Given the description of an element on the screen output the (x, y) to click on. 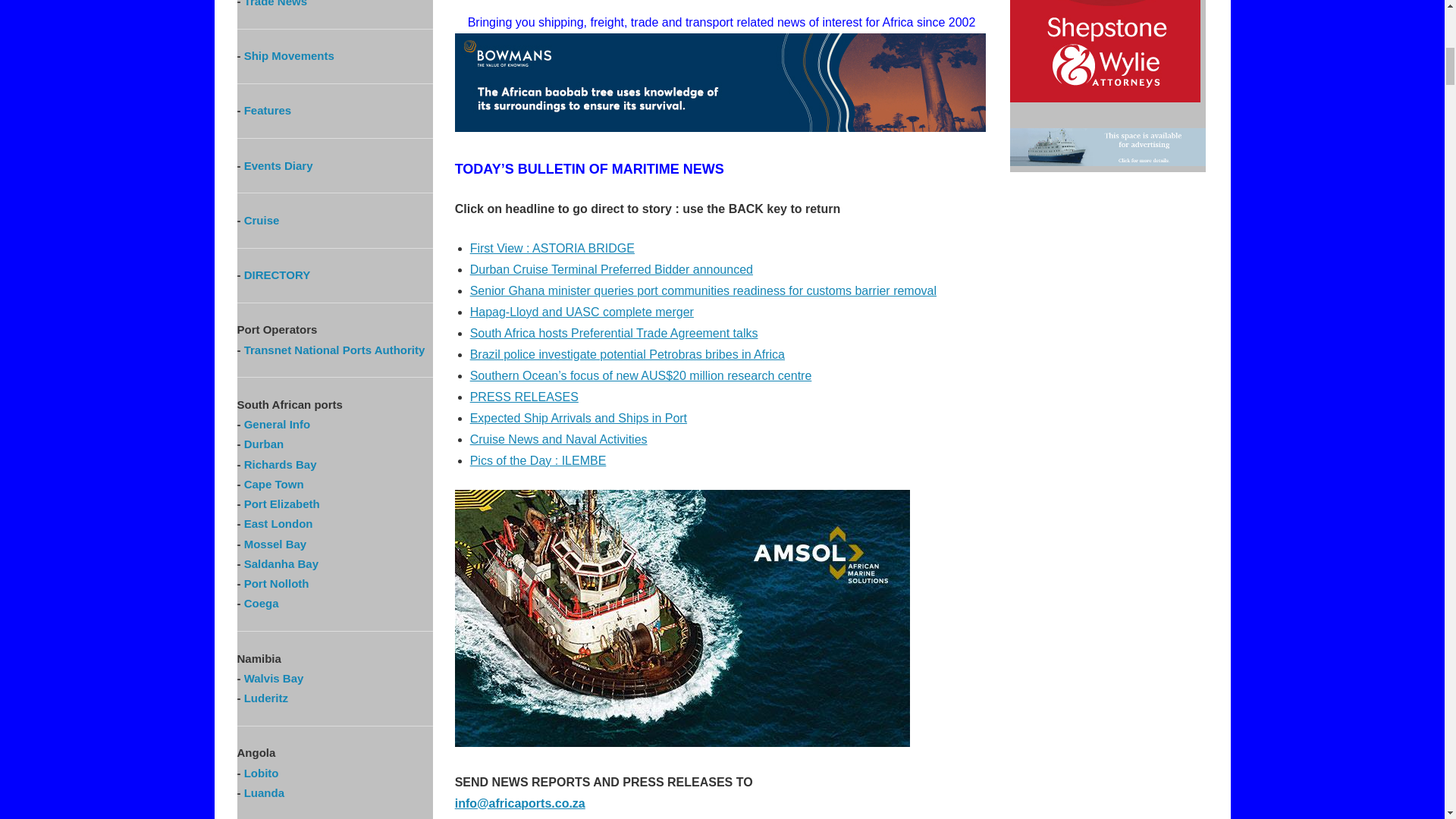
First View : ASTORIA BRIDGE (552, 247)
Durban Cruise Terminal Preferred Bidder announced (611, 269)
PRESS RELEASES (524, 396)
Expected Ship Arrivals and Ships in Port (578, 418)
Cruise News and Naval Activities (558, 439)
Hapag-Lloyd and UASC complete merger (582, 311)
Pics of the Day : ILEMBE (538, 460)
South Africa hosts Preferential Trade Agreement talks (614, 332)
